Given the description of an element on the screen output the (x, y) to click on. 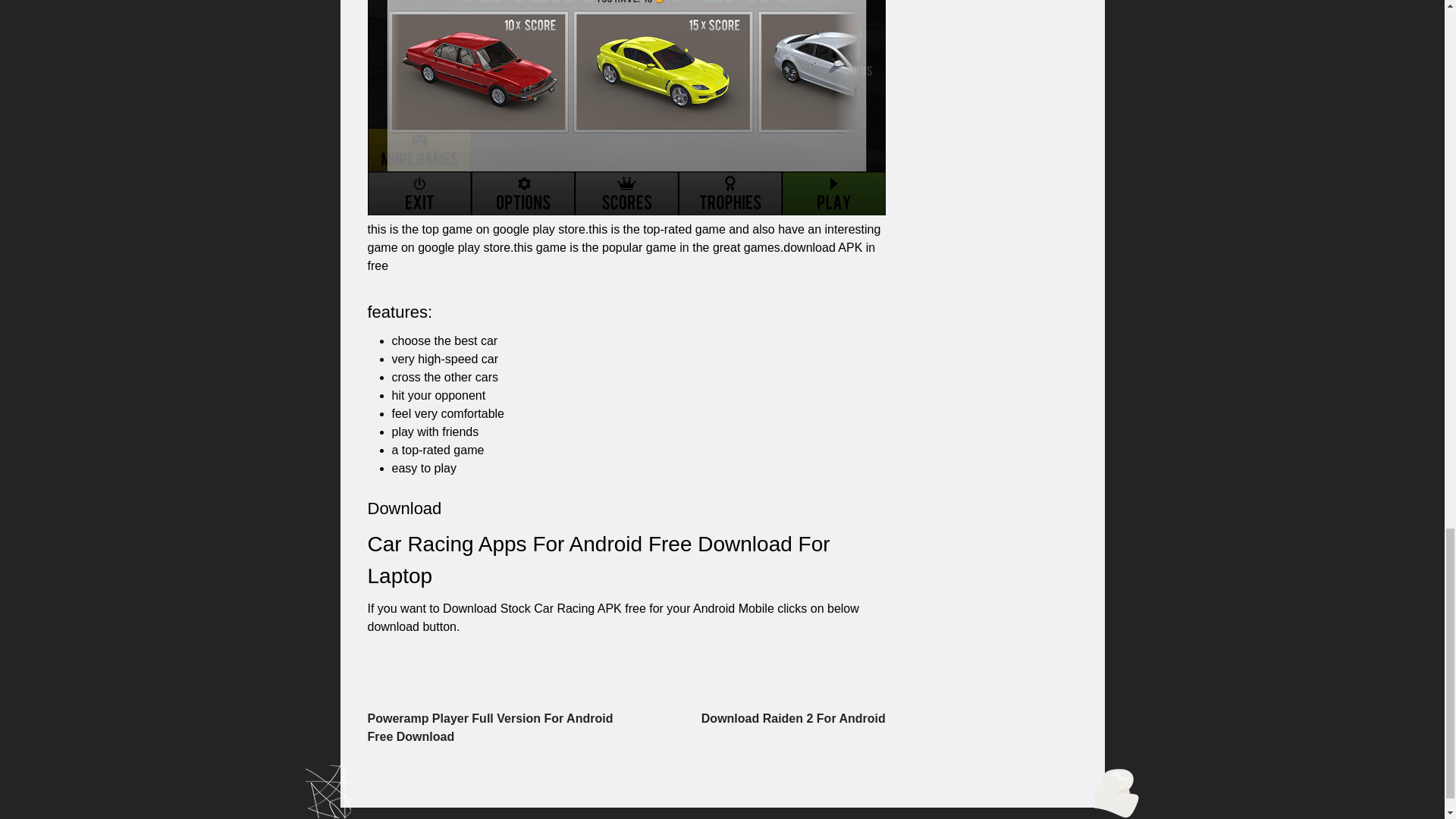
Poweramp Player Full Version For Android Free Download (489, 726)
Racing (625, 107)
Download Raiden 2 For Android (793, 717)
